Given the description of an element on the screen output the (x, y) to click on. 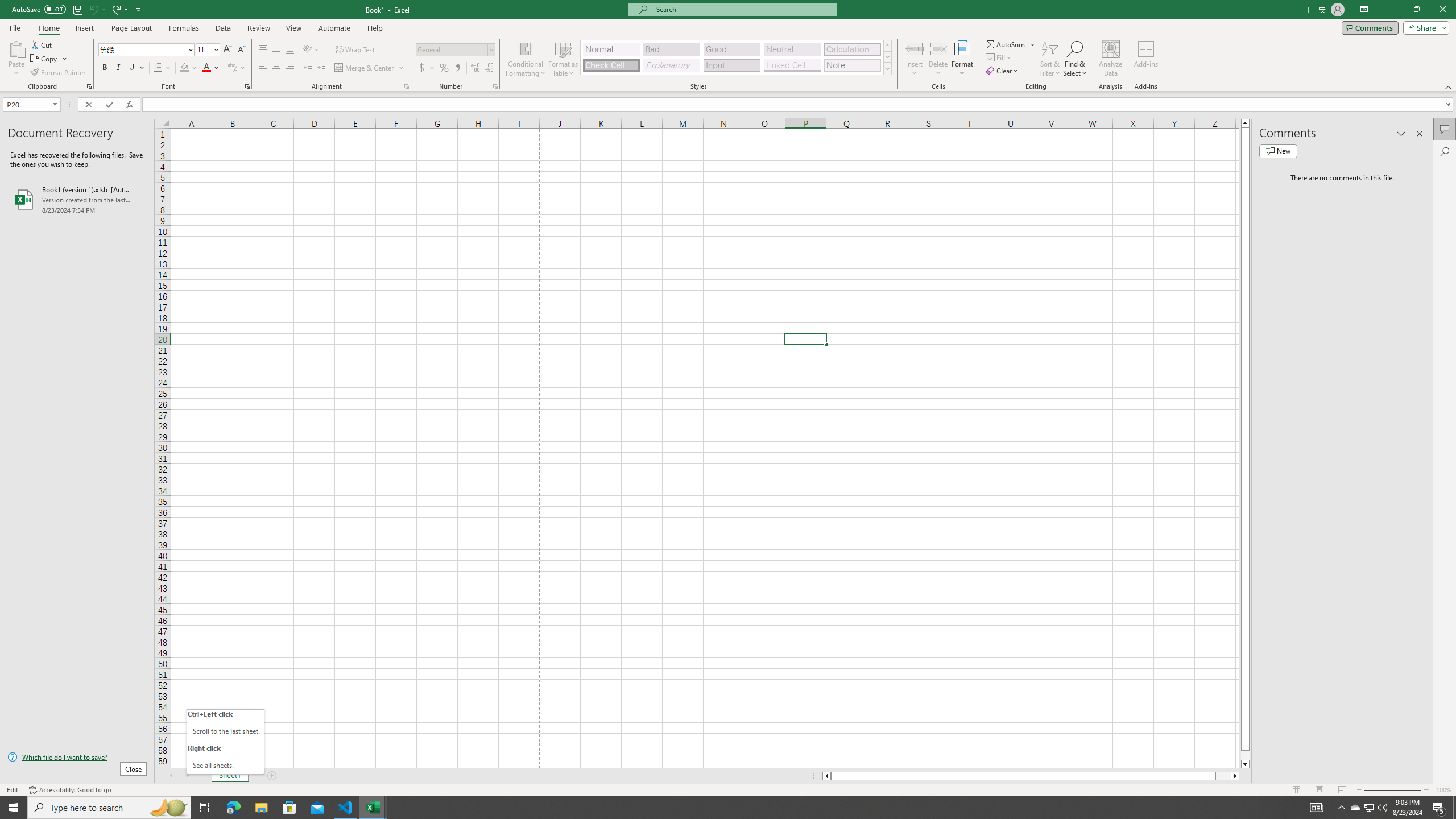
Font Color (210, 67)
Font Color RGB(255, 0, 0) (206, 67)
Neutral (791, 49)
Copy (49, 58)
Underline (136, 67)
